Given the description of an element on the screen output the (x, y) to click on. 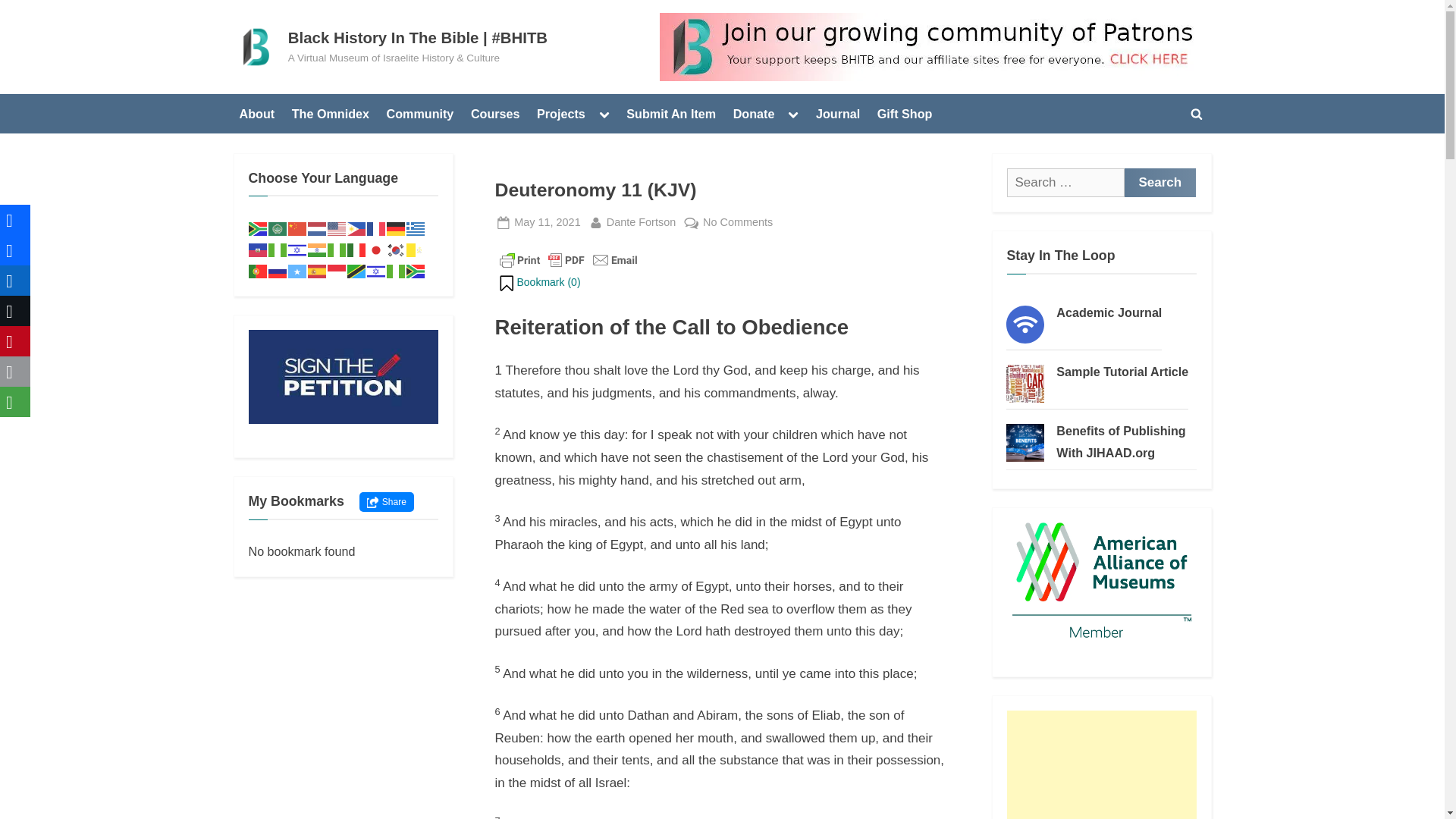
Toggle sub-menu (793, 113)
The Omnidex (330, 113)
Courses (494, 113)
Search (1159, 182)
Submit An Item (671, 113)
Community (420, 113)
Projects (561, 113)
Journal (837, 113)
Afrikaans (641, 221)
Gift Shop (257, 227)
Toggle search form (904, 113)
Arabic (1196, 113)
Bookmark This (277, 227)
